Given the description of an element on the screen output the (x, y) to click on. 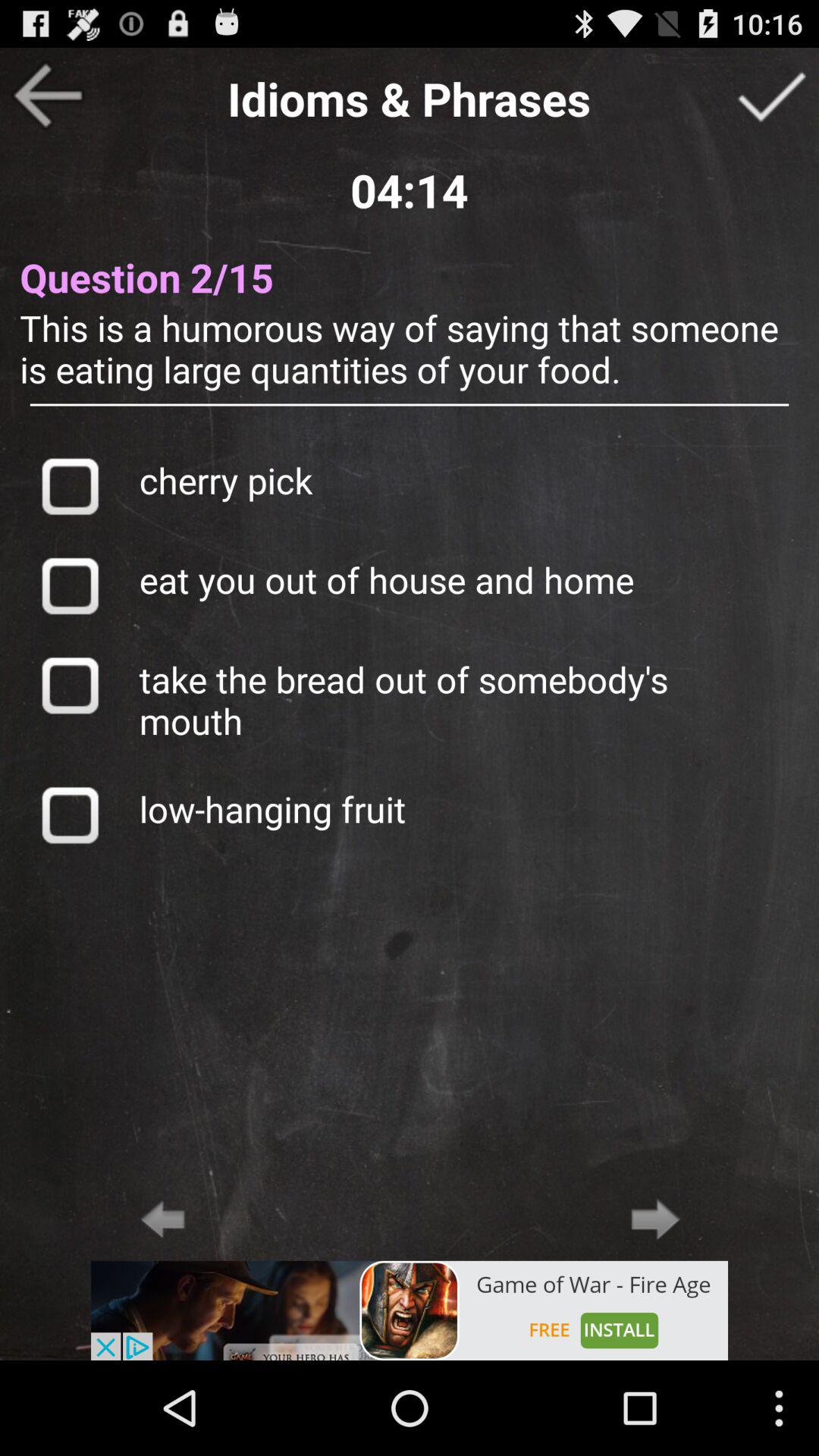
go next (771, 95)
